Given the description of an element on the screen output the (x, y) to click on. 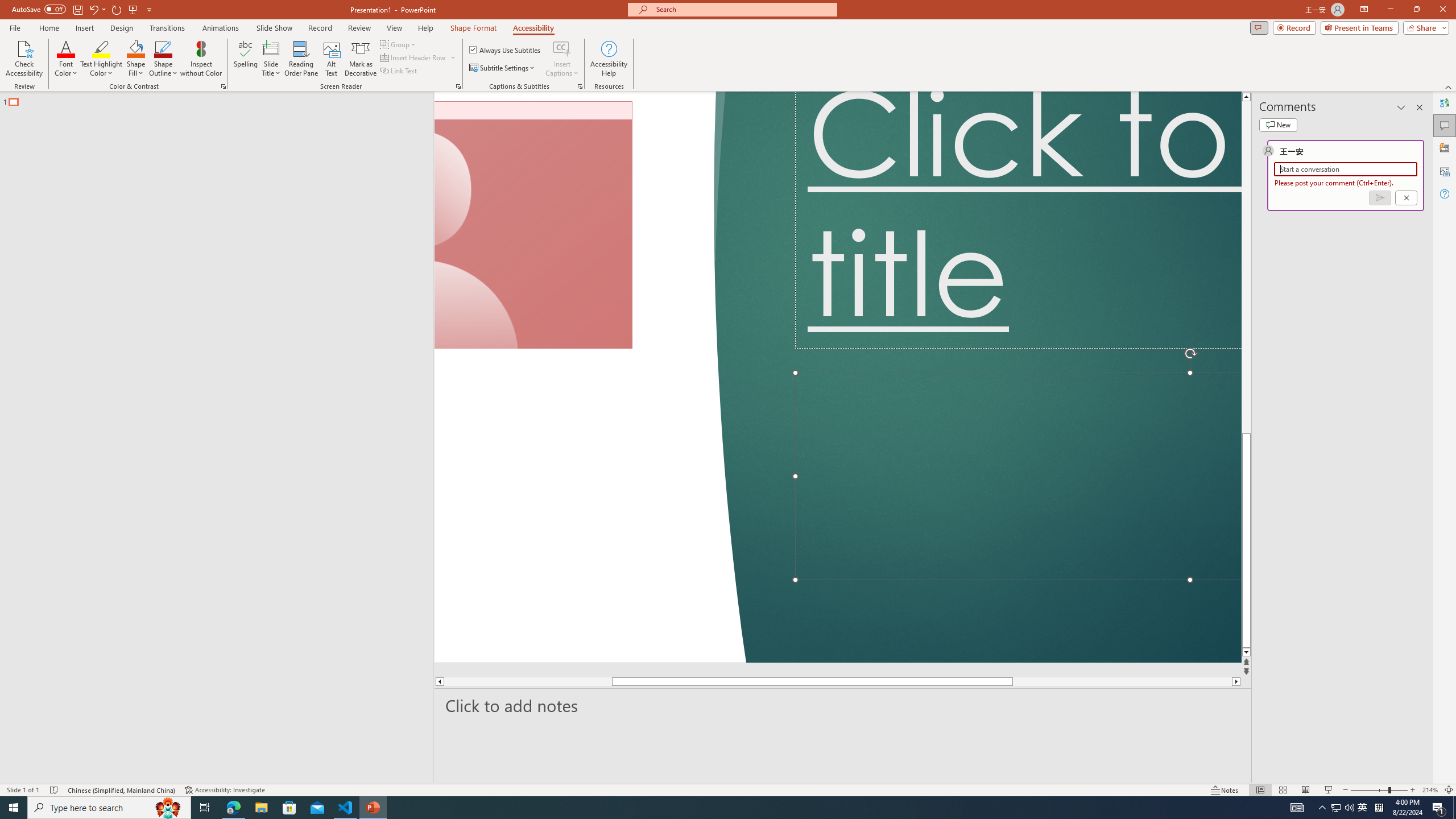
Text Highlight Color Yellow (100, 48)
Shape Outline (163, 58)
Designer (1444, 147)
Font Color Red (65, 48)
Post comment (Ctrl + Enter) (1379, 197)
Close pane (1419, 107)
Insert Captions (561, 58)
Slide Title (271, 58)
